Given the description of an element on the screen output the (x, y) to click on. 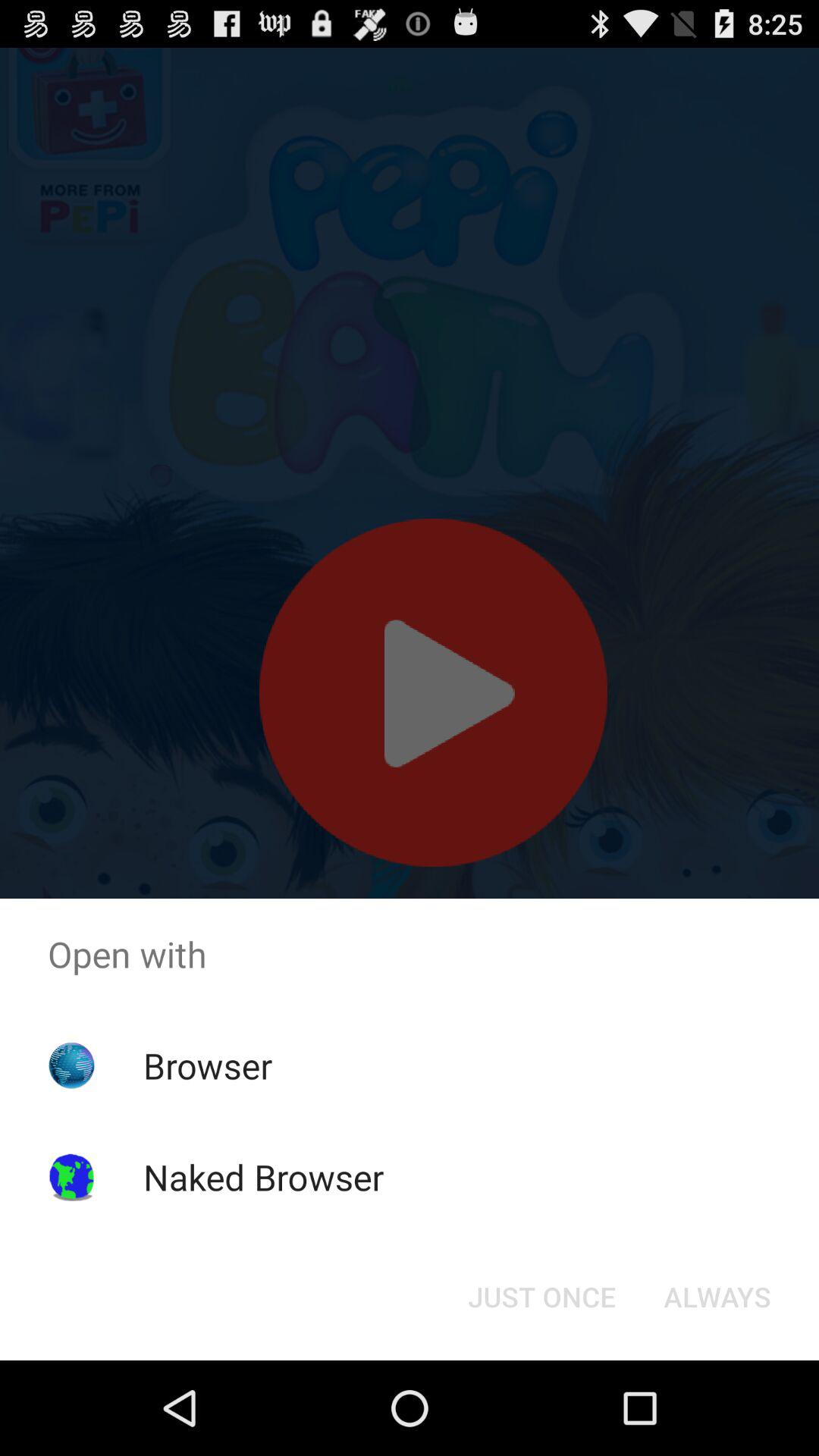
click the item to the right of the just once item (717, 1296)
